Given the description of an element on the screen output the (x, y) to click on. 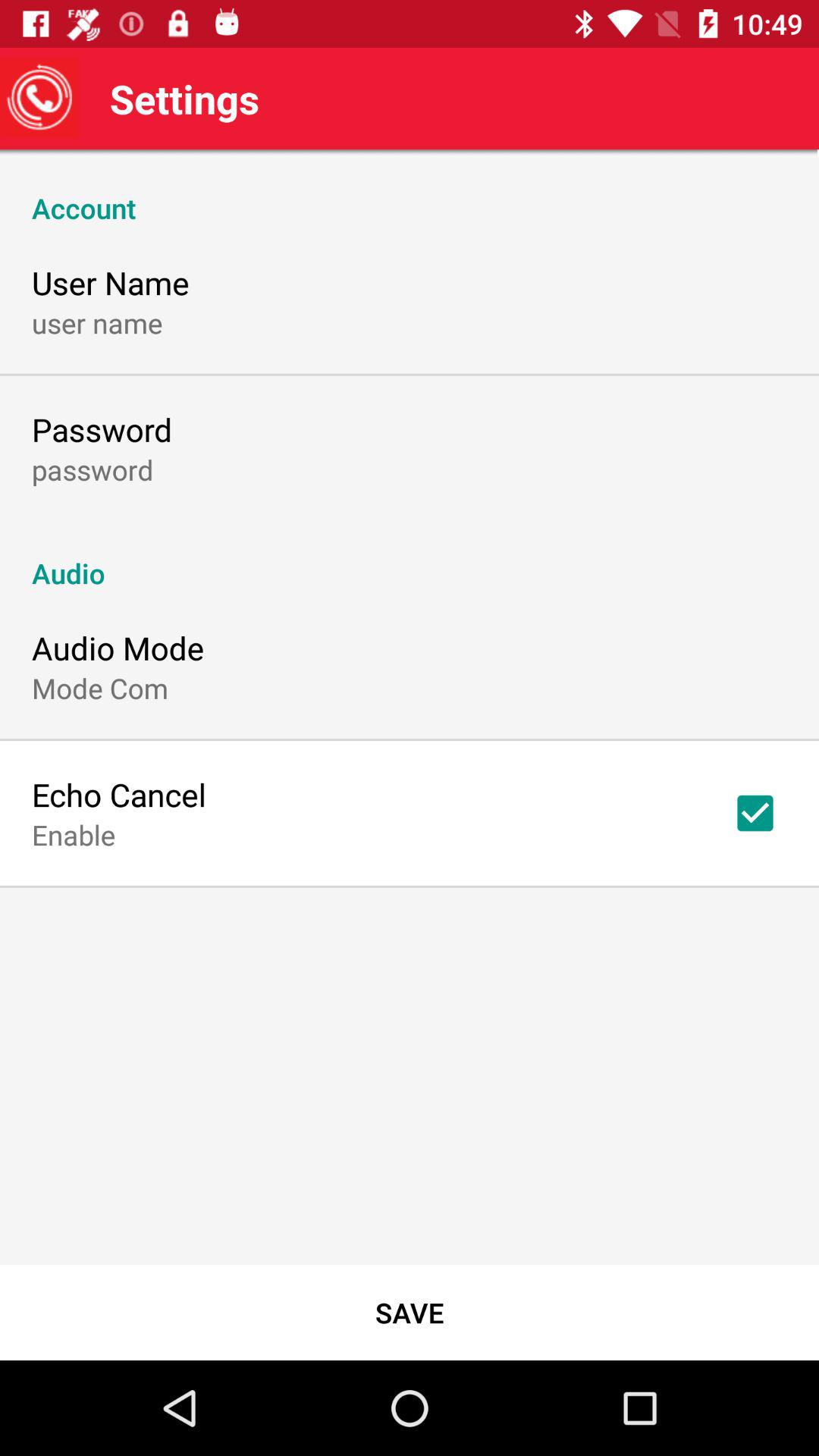
click the item next to the echo cancel (755, 813)
